Given the description of an element on the screen output the (x, y) to click on. 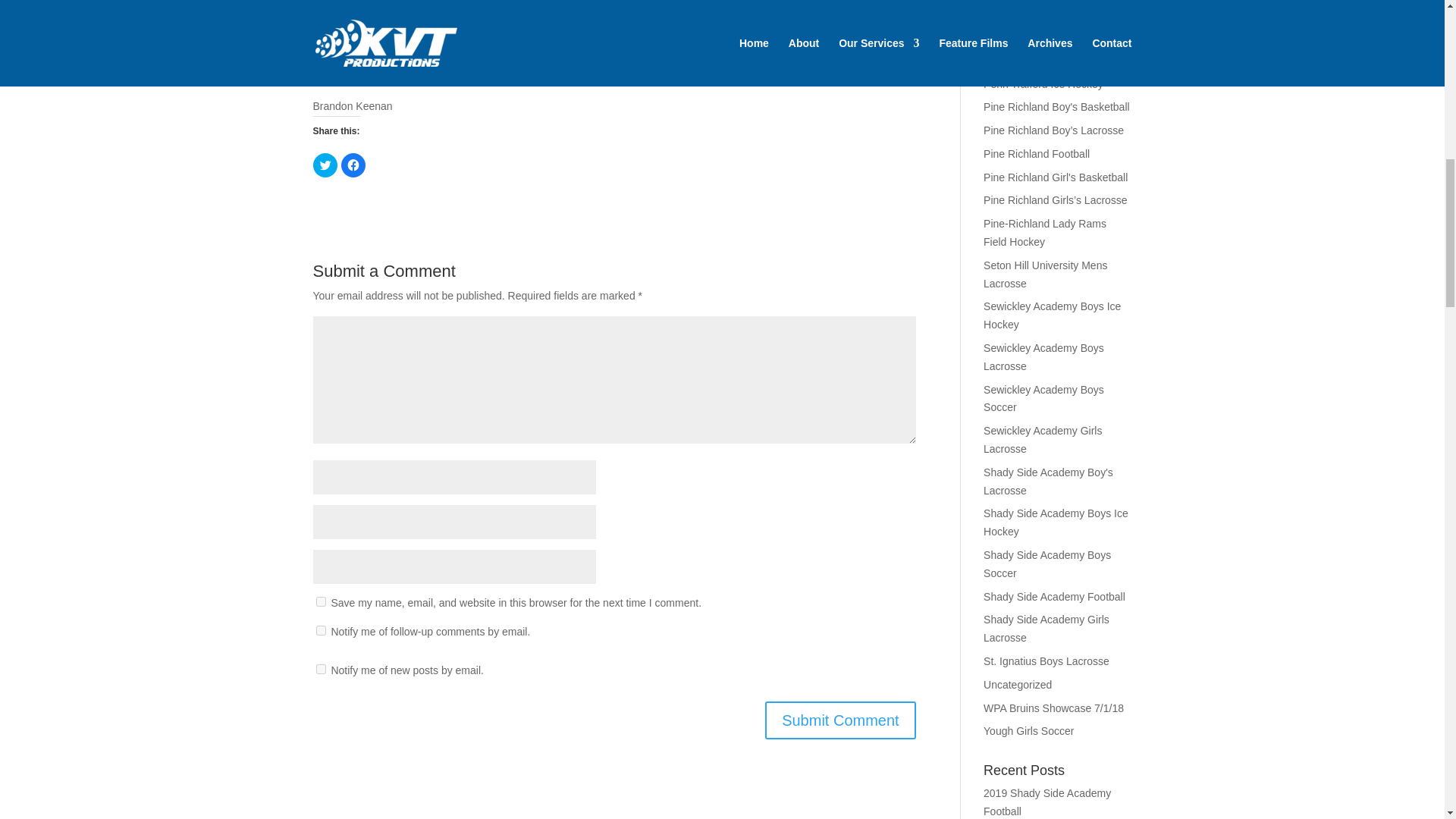
subscribe (319, 629)
subscribe (319, 669)
Submit Comment (840, 720)
yes (319, 601)
Click to share on Facebook (352, 165)
Click to share on Twitter (324, 165)
Submit Comment (840, 720)
